Given the description of an element on the screen output the (x, y) to click on. 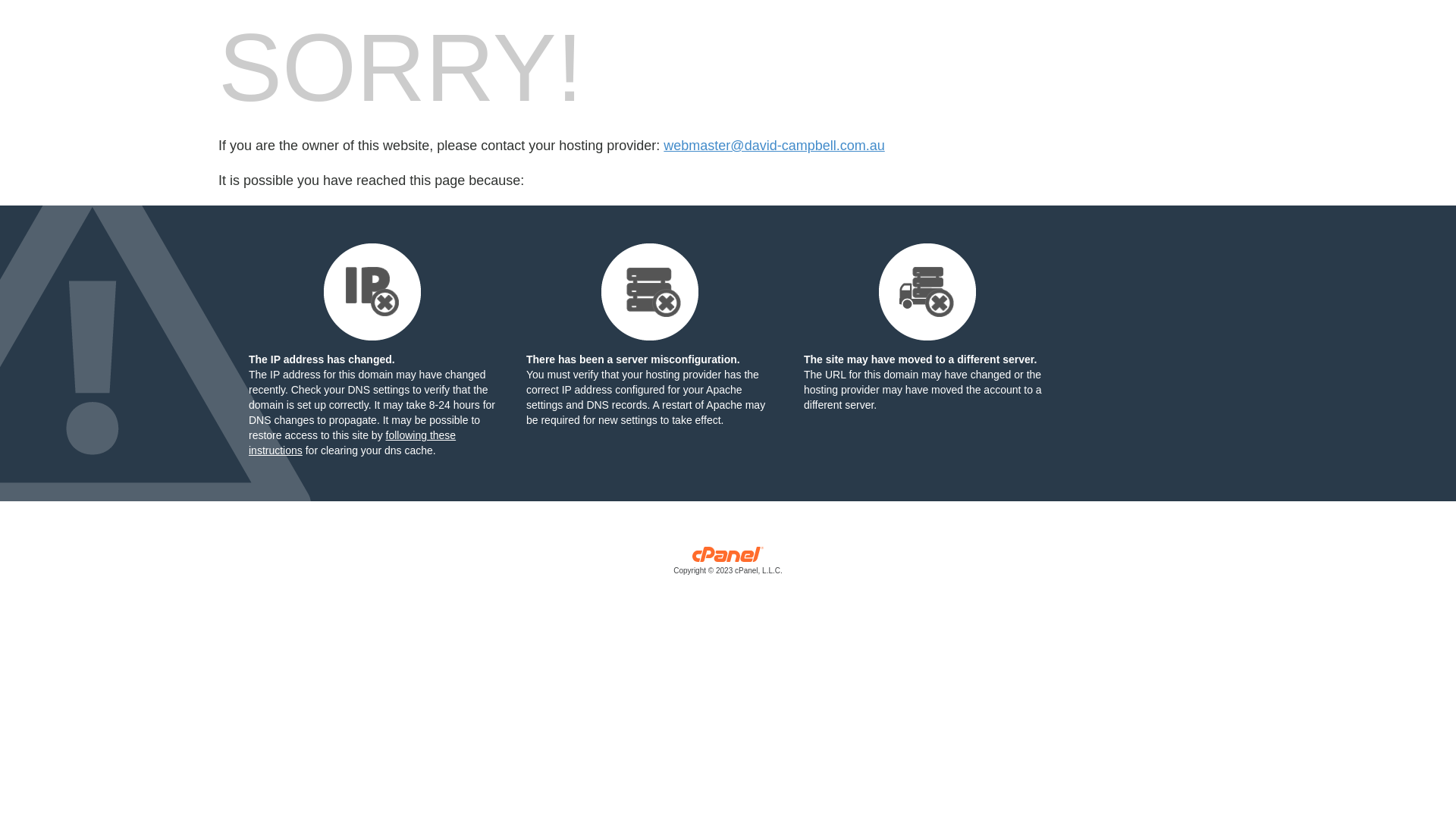
following these instructions Element type: text (351, 442)
webmaster@david-campbell.com.au Element type: text (773, 145)
